Given the description of an element on the screen output the (x, y) to click on. 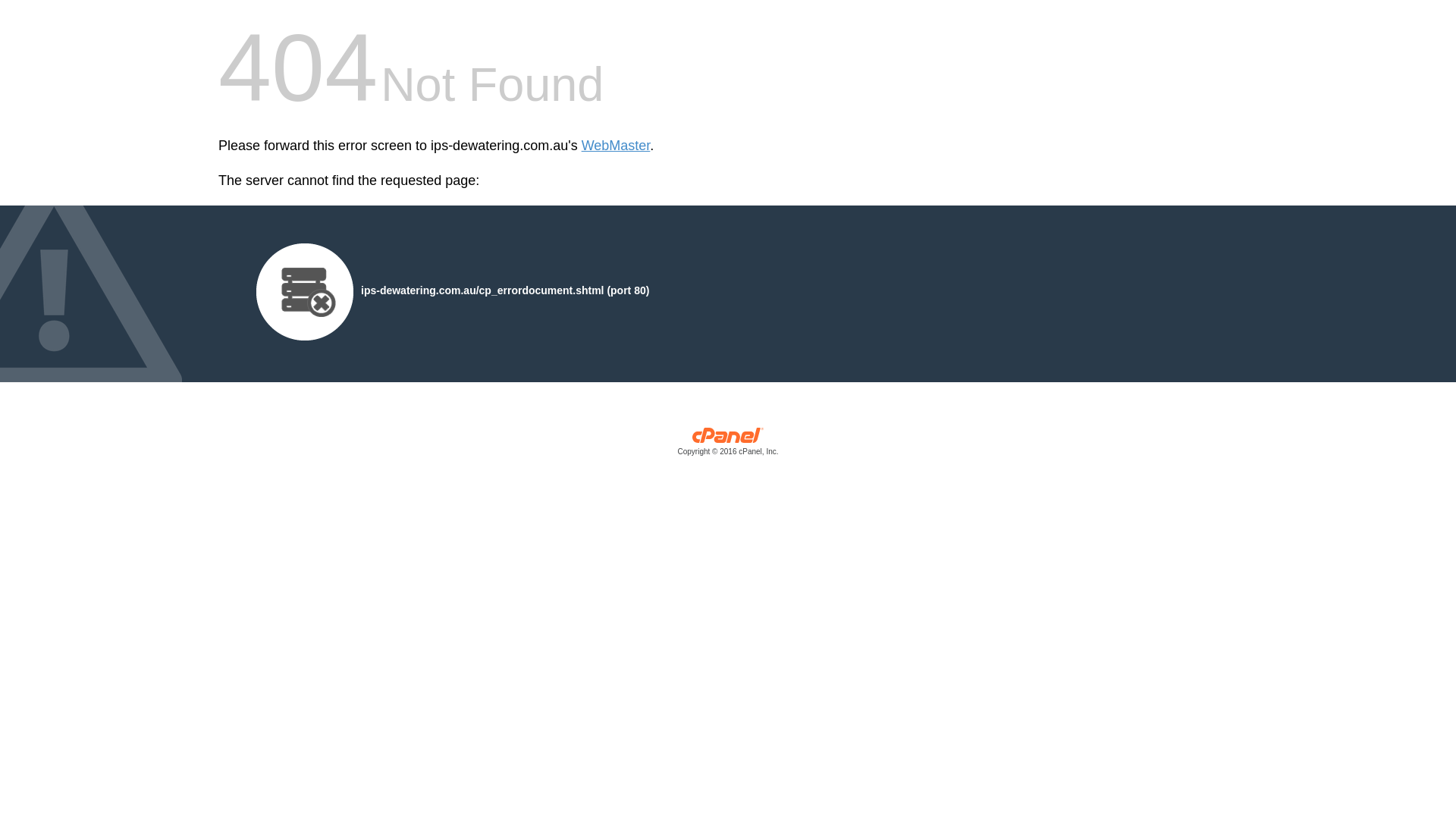
WebMaster Element type: text (615, 145)
